Given the description of an element on the screen output the (x, y) to click on. 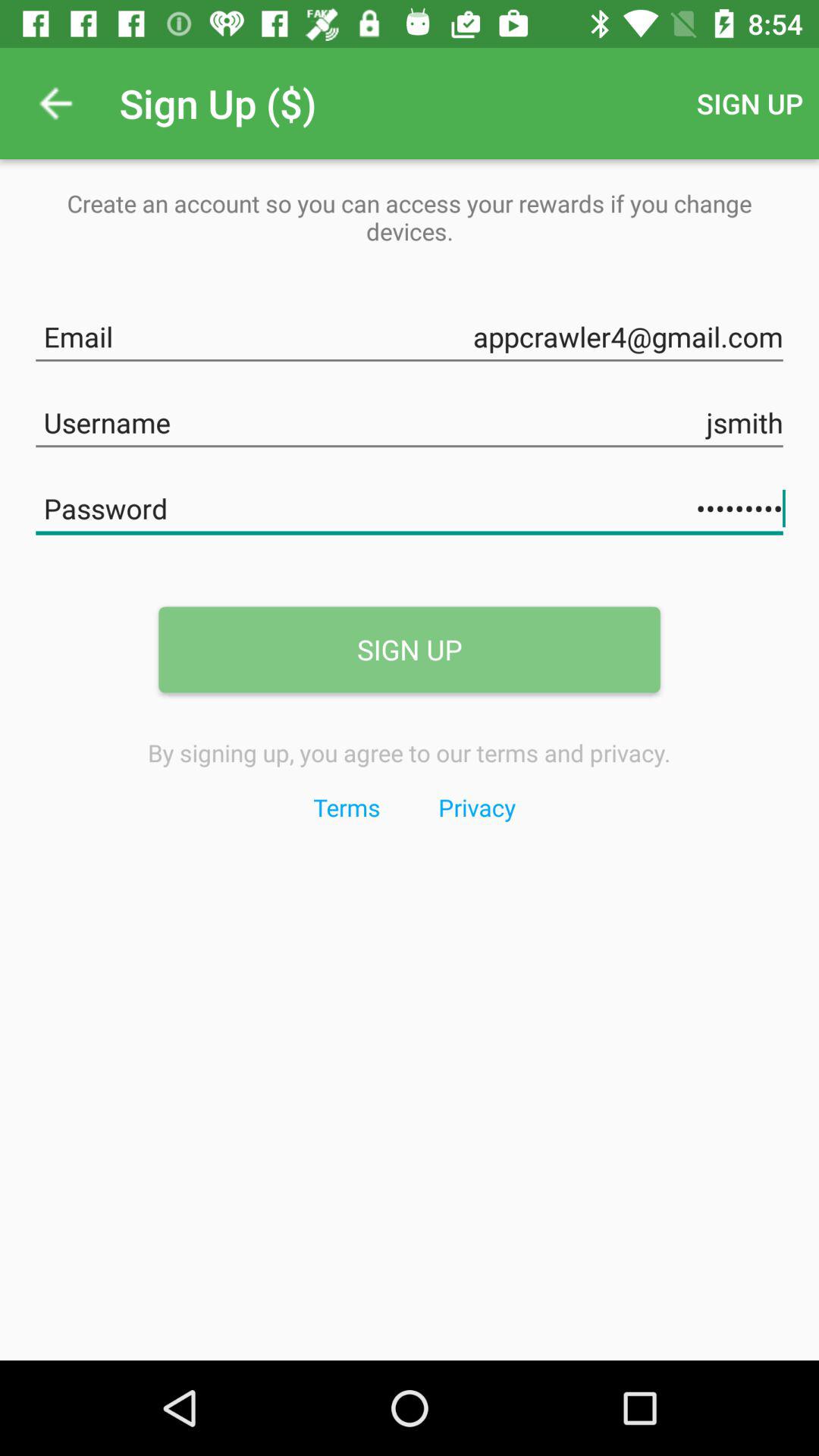
swipe until the crowd3116 (409, 505)
